Given the description of an element on the screen output the (x, y) to click on. 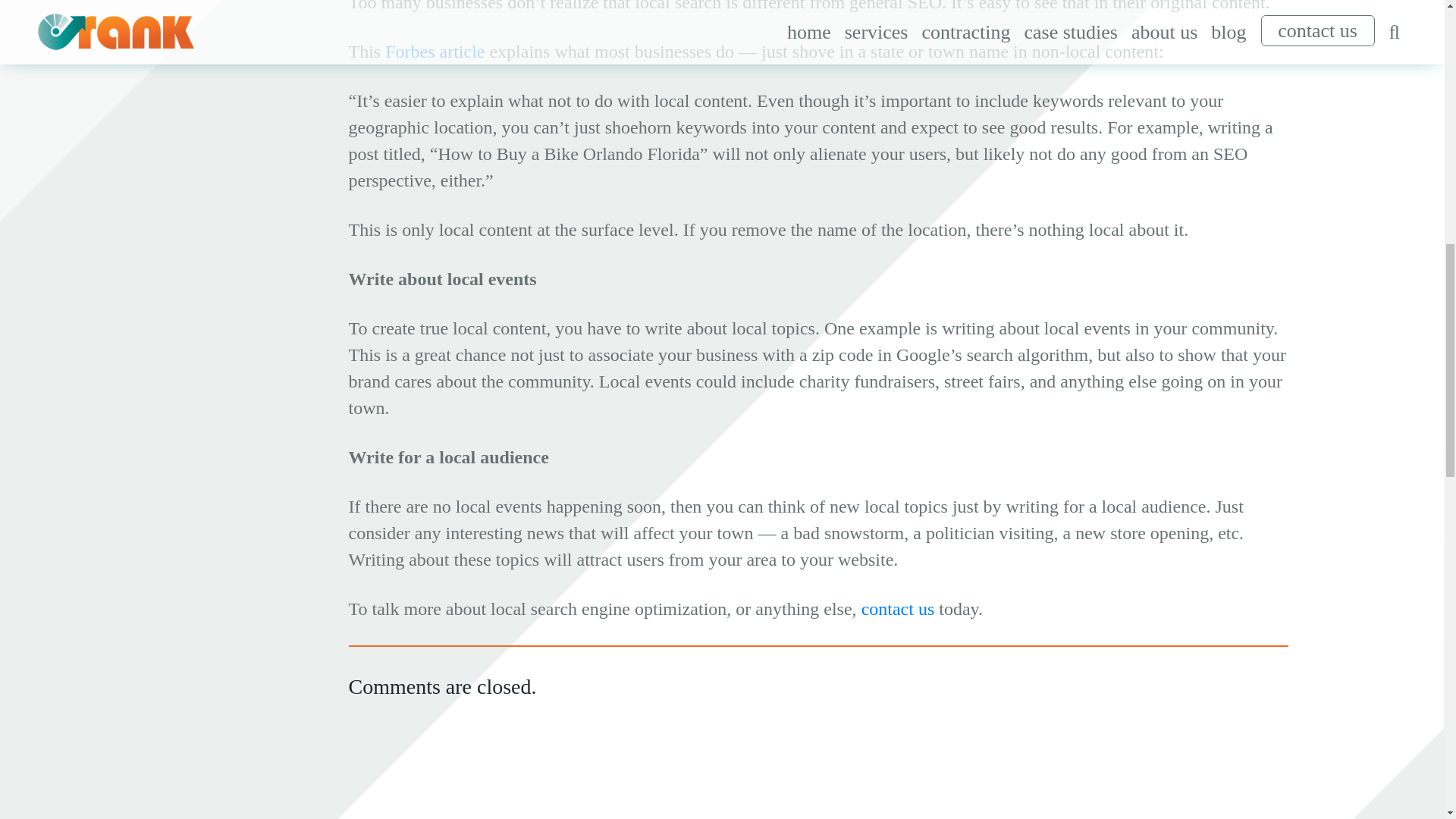
Forbes article (434, 51)
contact us (897, 608)
